Given the description of an element on the screen output the (x, y) to click on. 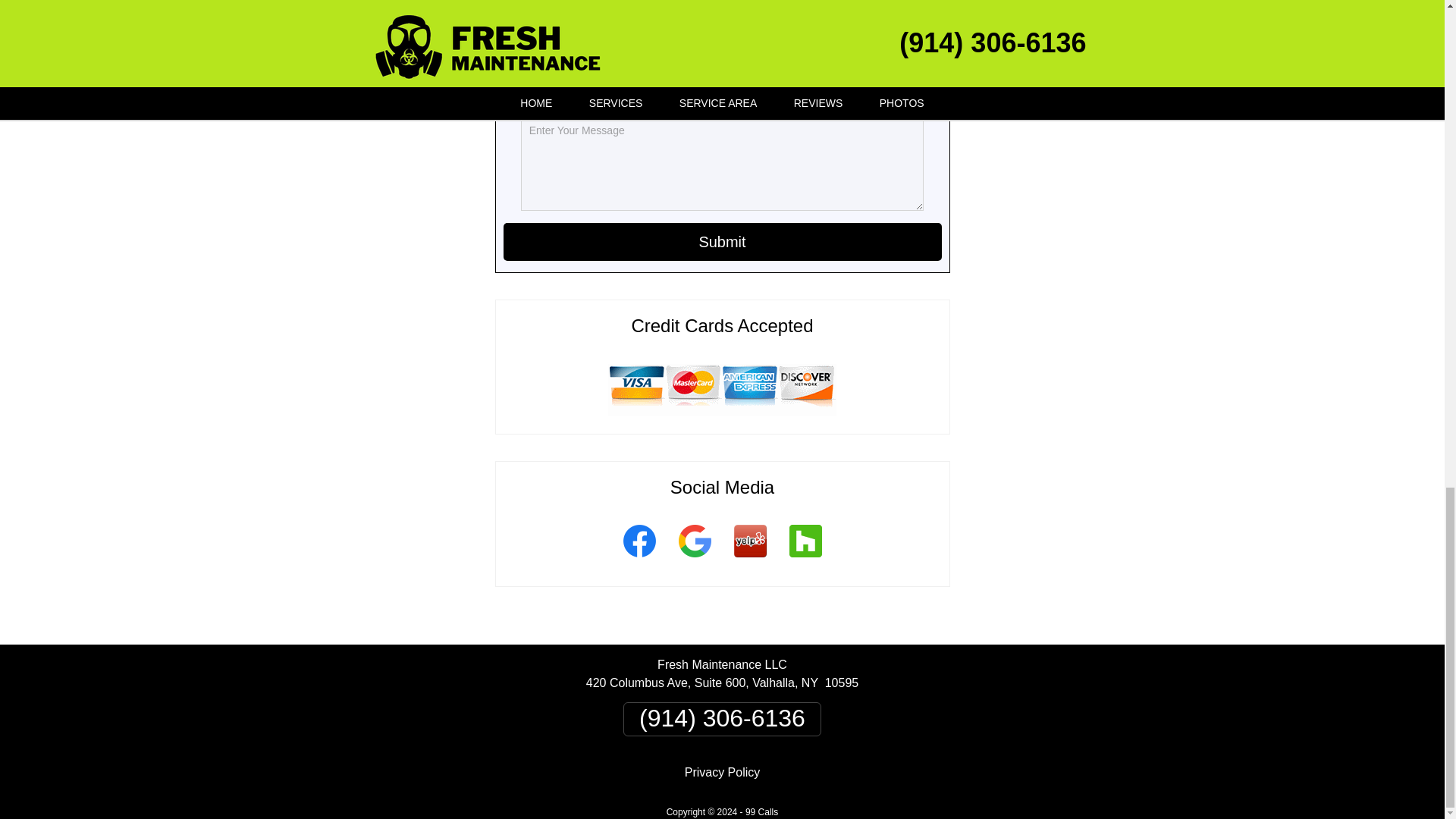
Facebook (638, 559)
Yelp (749, 559)
Houzz (804, 559)
Google (694, 559)
